Given the description of an element on the screen output the (x, y) to click on. 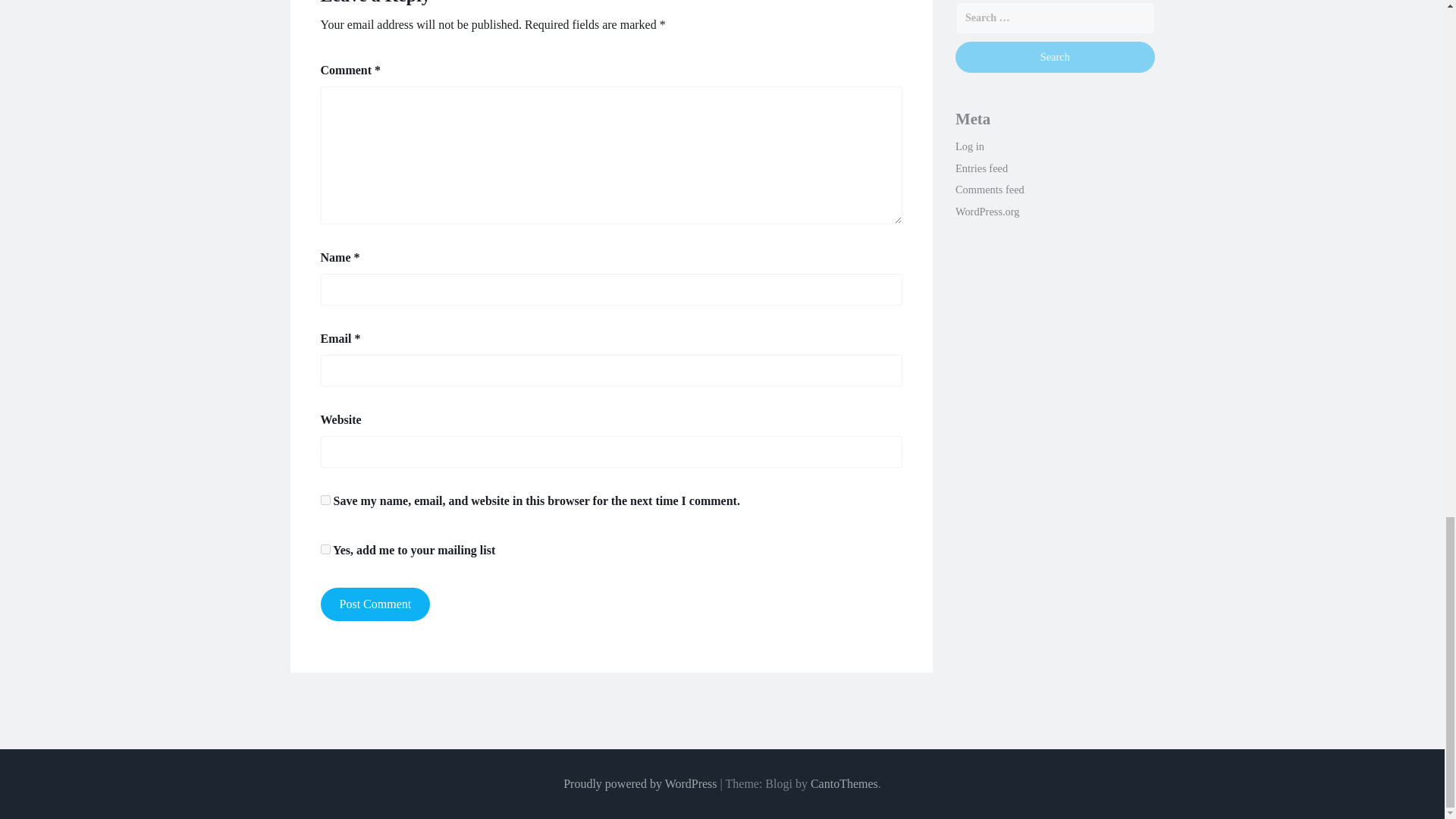
Post Comment (374, 604)
1 (325, 549)
Post Comment (374, 604)
yes (325, 500)
Search (1054, 56)
Search (1054, 56)
